Given the description of an element on the screen output the (x, y) to click on. 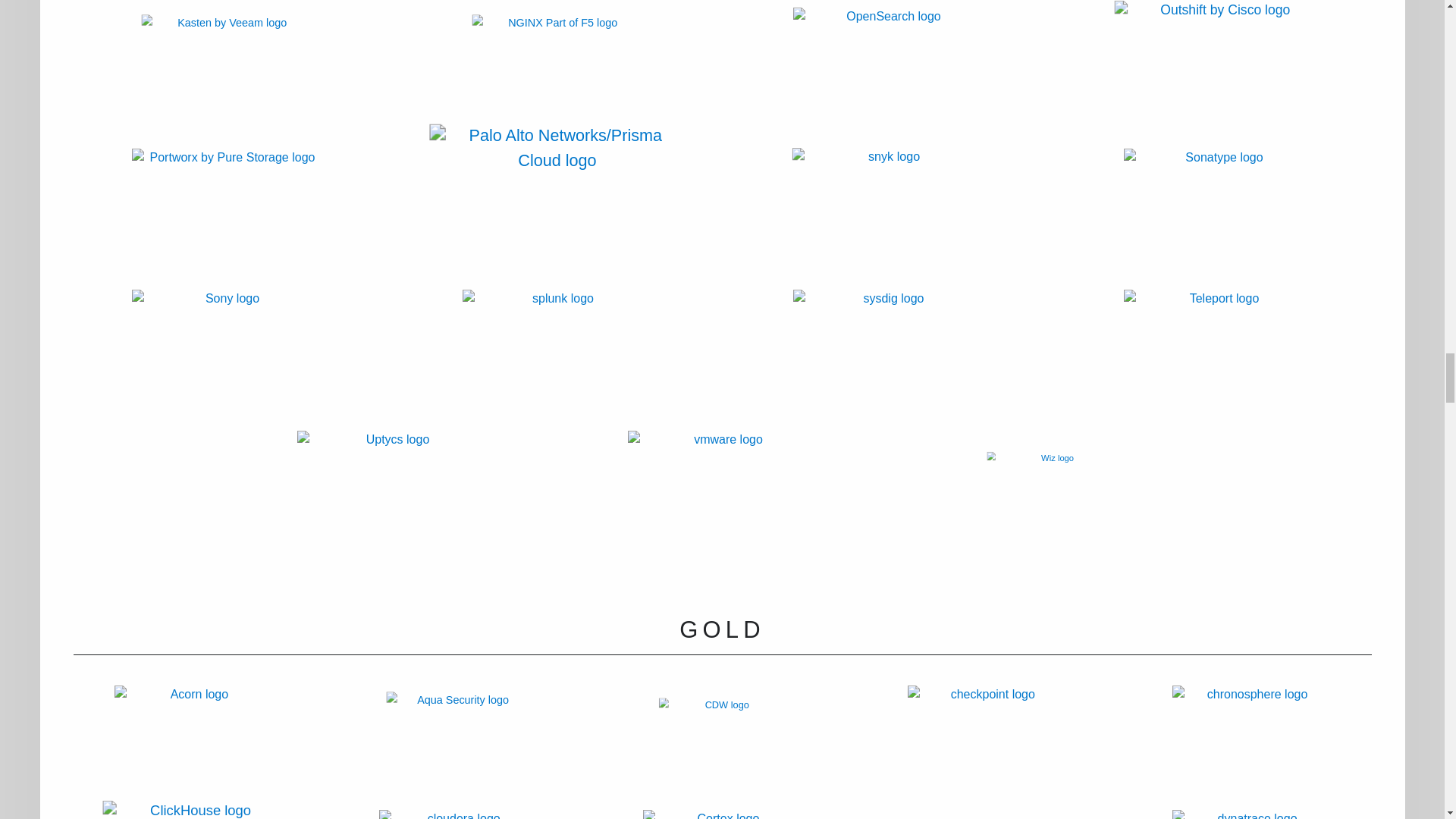
Go to JFrog (1218, 3)
Go to IBM (271, 14)
Go to Kasten by Veeam (241, 84)
Go to Intel (948, 18)
